Given the description of an element on the screen output the (x, y) to click on. 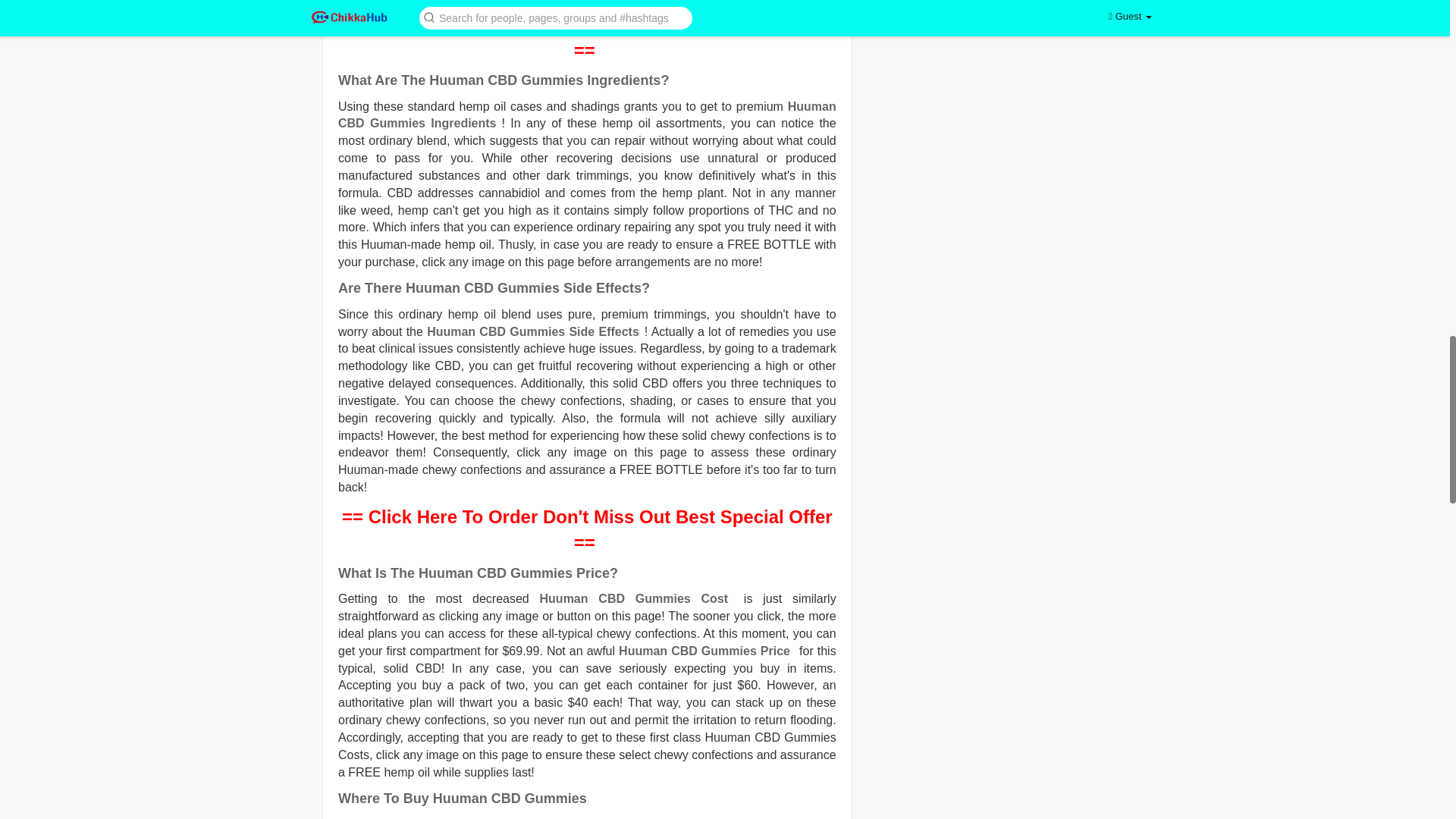
Are There Huuman CBD Gummies Side Effects? (493, 287)
What Is The Huuman CBD Gummies Price? (477, 572)
Huuman CBD Gummies Side Effects (532, 331)
Huuman CBD Gummies Price (704, 650)
Huuman CBD Gummies Ingredients (586, 114)
Huuman CBD Gummies Cost (634, 598)
What Are The Huuman CBD Gummies Ingredients? (502, 79)
Where To Buy Huuman CBD Gummies (461, 797)
